Given the description of an element on the screen output the (x, y) to click on. 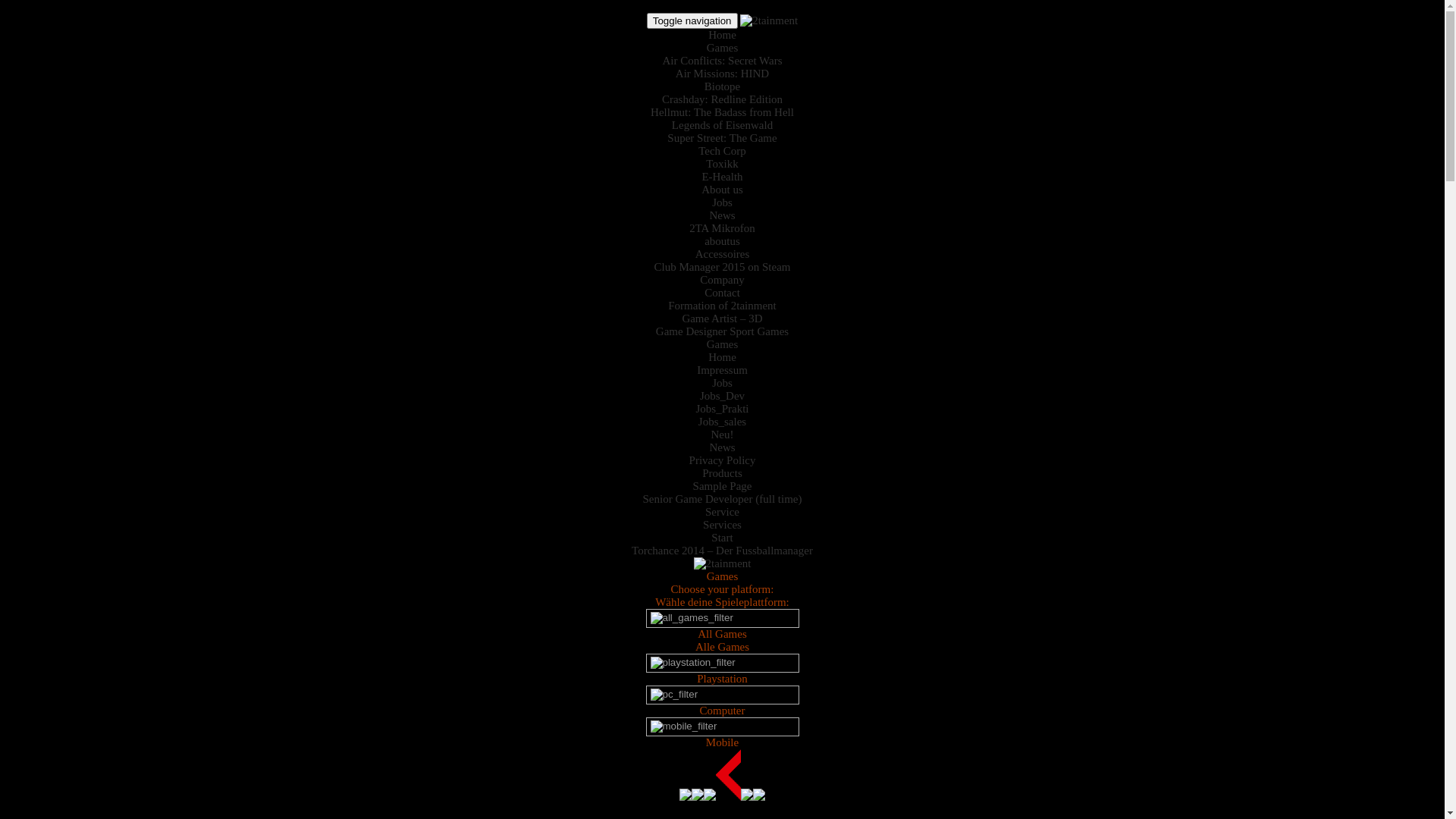
Air Conflicts: Secret Wars Element type: text (721, 60)
Senior Game Developer (full time) Element type: text (722, 498)
News Element type: text (721, 215)
Games Element type: text (722, 47)
Game Designer Sport Games Element type: text (721, 331)
Service Element type: text (722, 511)
Club Manager 2015 on Steam Element type: text (721, 266)
Sample Page Element type: text (722, 486)
Jobs Element type: text (722, 202)
Jobs_Dev Element type: text (721, 395)
Toxikk Element type: text (721, 163)
About us Element type: text (722, 189)
Toggle navigation Element type: text (691, 20)
Privacy Policy Element type: text (722, 460)
Hellmut: The Badass from Hell Element type: text (721, 112)
Home Element type: text (722, 34)
E-Health Element type: text (721, 176)
Jobs_sales Element type: text (722, 421)
Impressum Element type: text (721, 370)
Tech Corp Element type: text (722, 150)
Games Element type: text (722, 344)
Services Element type: text (721, 524)
Neu! Element type: text (722, 434)
Biotope Element type: text (722, 86)
Formation of 2tainment Element type: text (721, 305)
Crashday: Redline Edition Element type: text (722, 99)
News Element type: text (721, 447)
Jobs Element type: text (722, 382)
Products Element type: text (722, 473)
Legends of Eisenwald Element type: text (721, 125)
Accessoires Element type: text (722, 253)
Contact Element type: text (722, 292)
Air Missions: HIND Element type: text (721, 73)
Start Element type: text (721, 537)
Company Element type: text (721, 279)
2TA Mikrofon Element type: text (722, 228)
Jobs_Prakti Element type: text (721, 408)
Home Element type: text (722, 357)
aboutus Element type: text (722, 241)
Super Street: The Game Element type: text (721, 137)
